Given the description of an element on the screen output the (x, y) to click on. 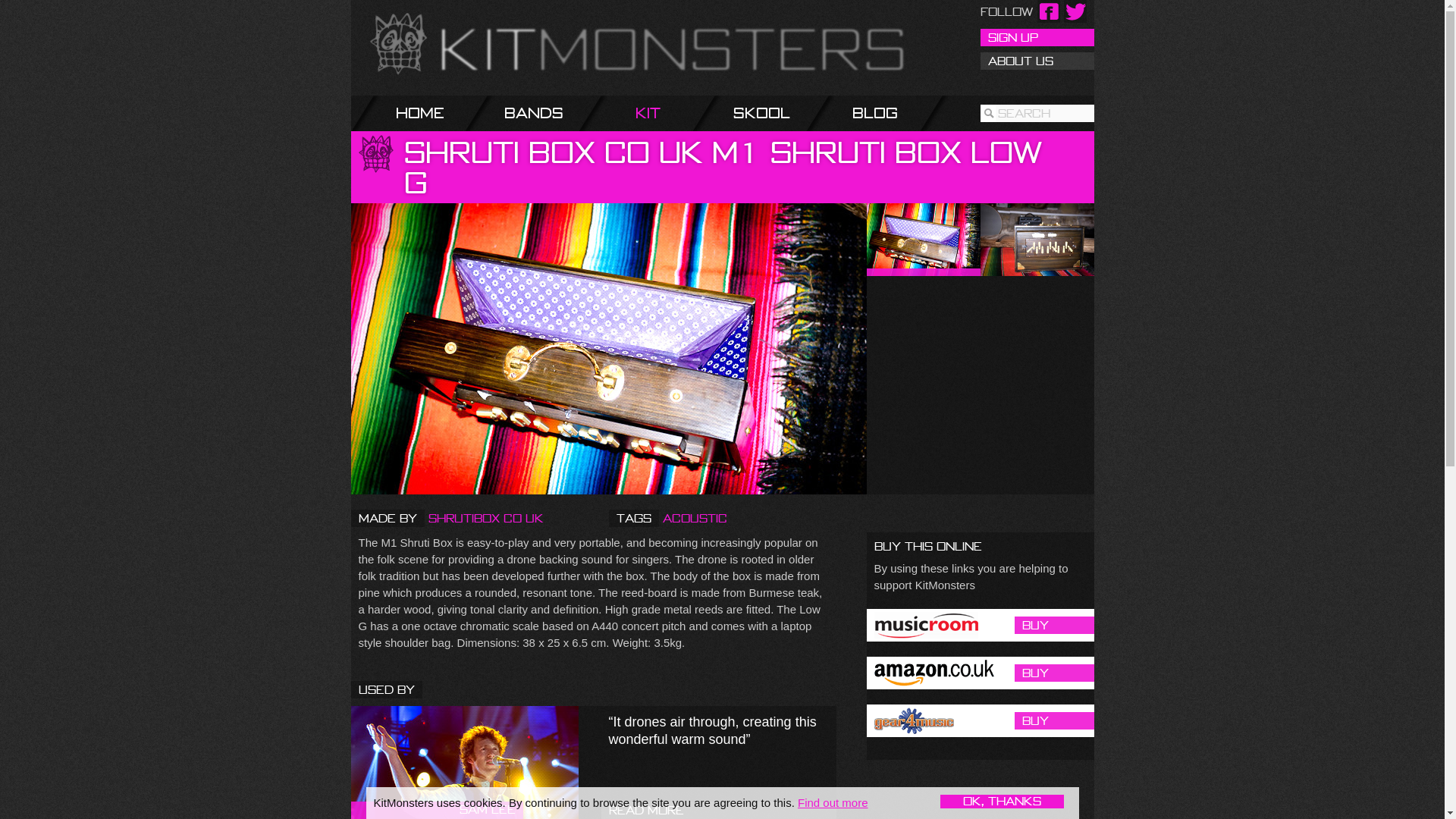
Skool (778, 113)
Buy (979, 720)
Buy this from amazon.co.uk (979, 672)
Buy (979, 625)
OK, Thanks (1002, 801)
About Us (1036, 60)
Home (437, 113)
Acoustic (694, 518)
Find out more (832, 802)
Buy this from gear4music.com (979, 720)
Kit (665, 113)
Blog (892, 113)
Buy (979, 672)
Sign Up (1036, 36)
